Given the description of an element on the screen output the (x, y) to click on. 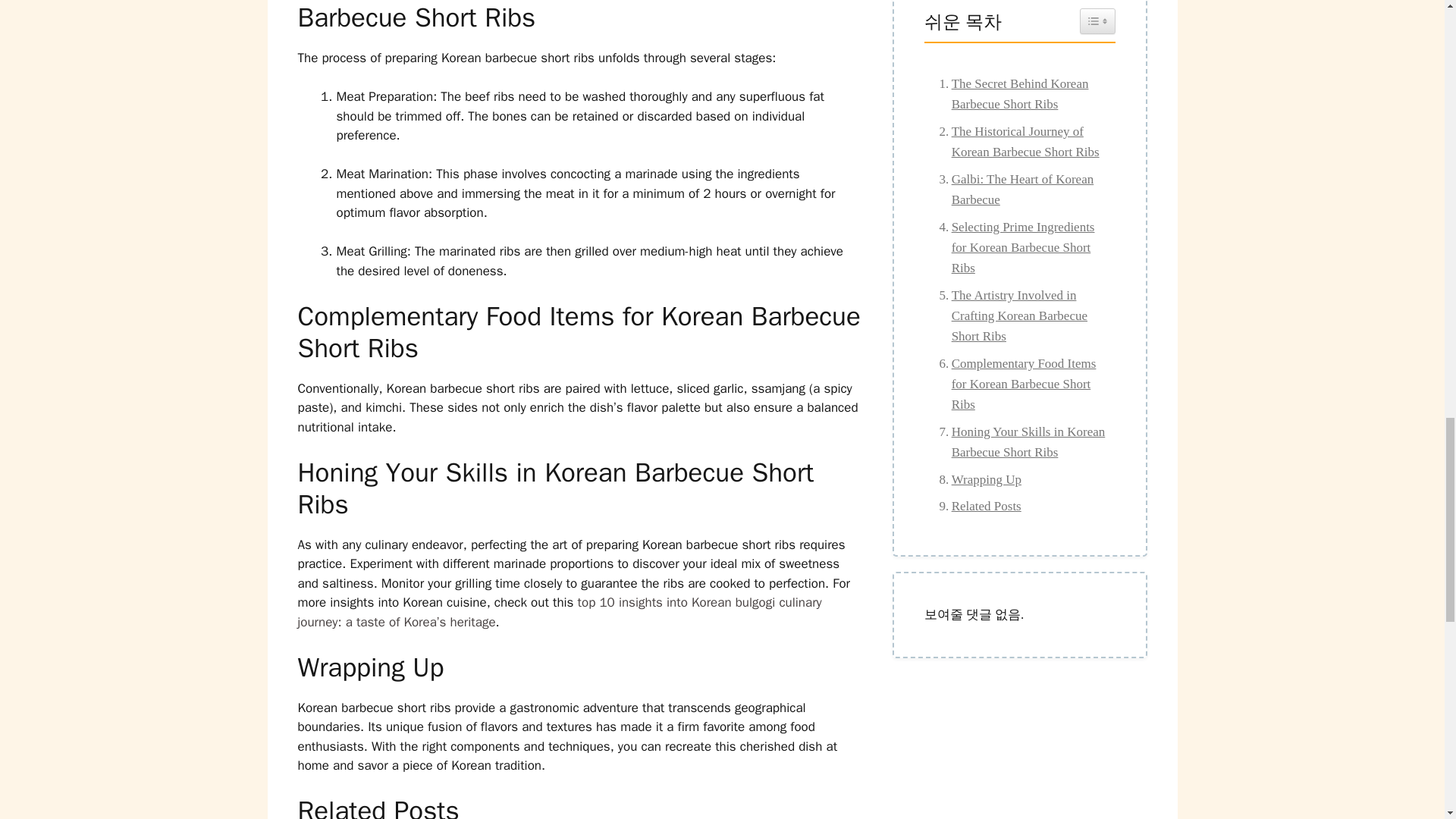
The Secret Behind Korean Barbecue Short Ribs (1018, 93)
The Artistry Involved in Crafting Korean Barbecue Short Ribs (1018, 316)
Selecting Prime Ingredients for Korean Barbecue Short Ribs (1018, 248)
Complementary Food Items for Korean Barbecue Short Ribs (1018, 383)
The Historical Journey of Korean Barbecue Short Ribs (1018, 141)
Galbi: The Heart of Korean Barbecue (1018, 188)
